Given the description of an element on the screen output the (x, y) to click on. 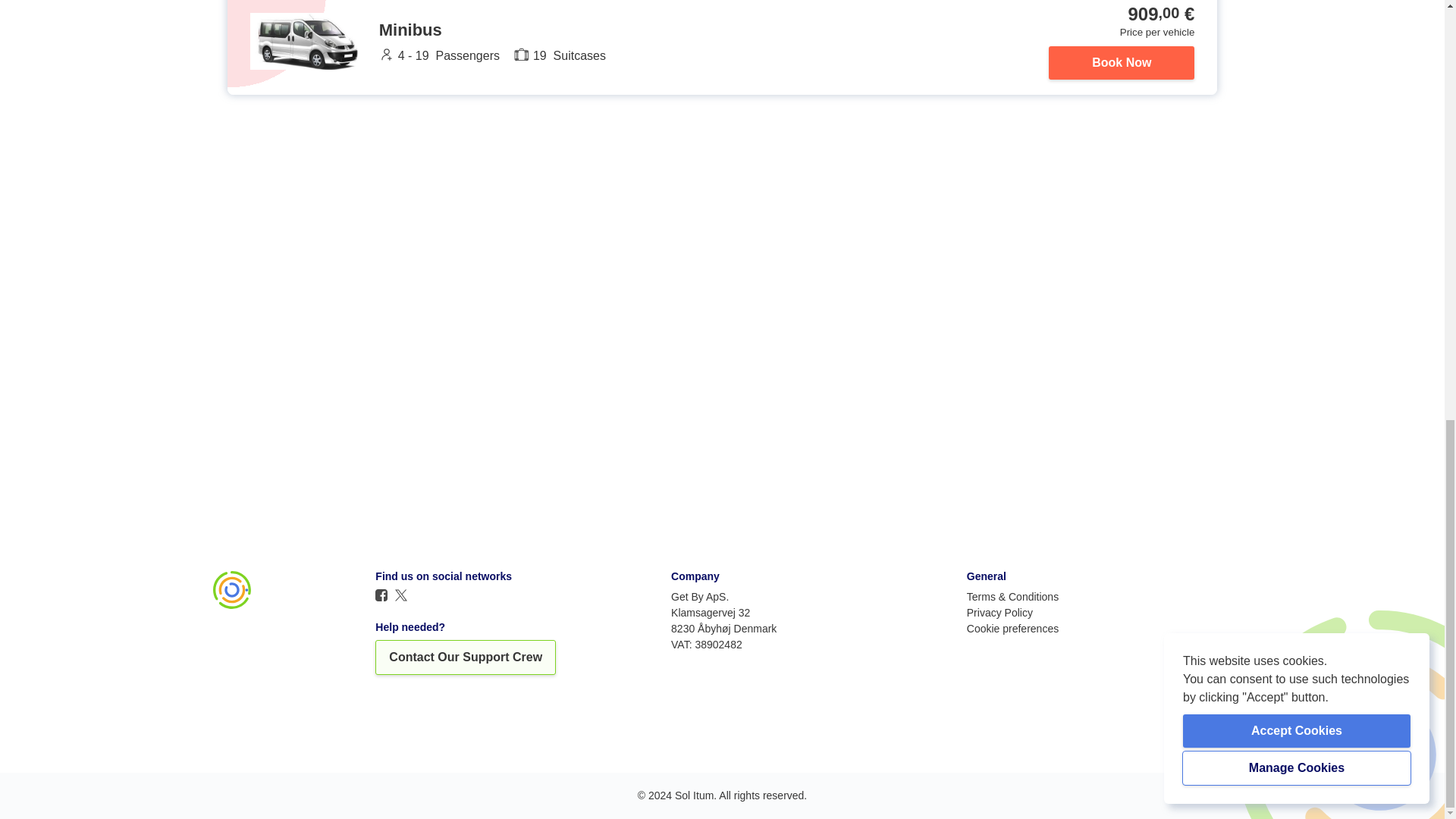
Contact Our Support Crew (465, 656)
Privacy Policy (999, 612)
Cookie preferences (1012, 627)
Book Now (1120, 61)
